Given the description of an element on the screen output the (x, y) to click on. 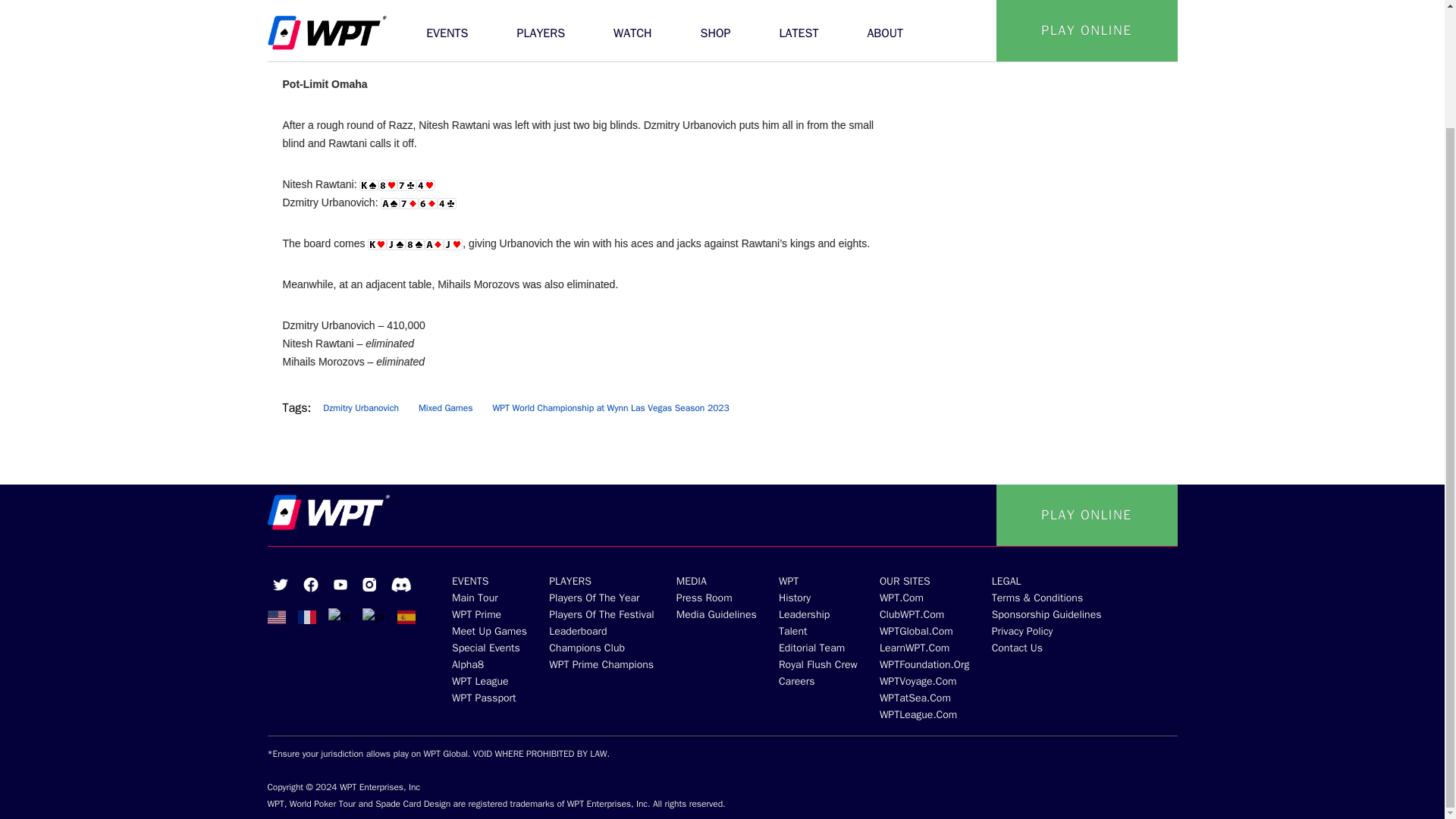
Spade J (396, 244)
Instagram (368, 584)
Heart 4 (425, 184)
Youtube (340, 584)
3rd party ad content (1044, 185)
Spade K (368, 184)
Heart K (377, 244)
Club 7 (406, 184)
Spade A (389, 203)
Diamond 7 (408, 203)
WPT World Championship at Wynn Las Vegas Season 2023 (610, 407)
Mixed Games (445, 407)
Heart 8 (387, 184)
Diamond A (434, 244)
Facebook (310, 584)
